Given the description of an element on the screen output the (x, y) to click on. 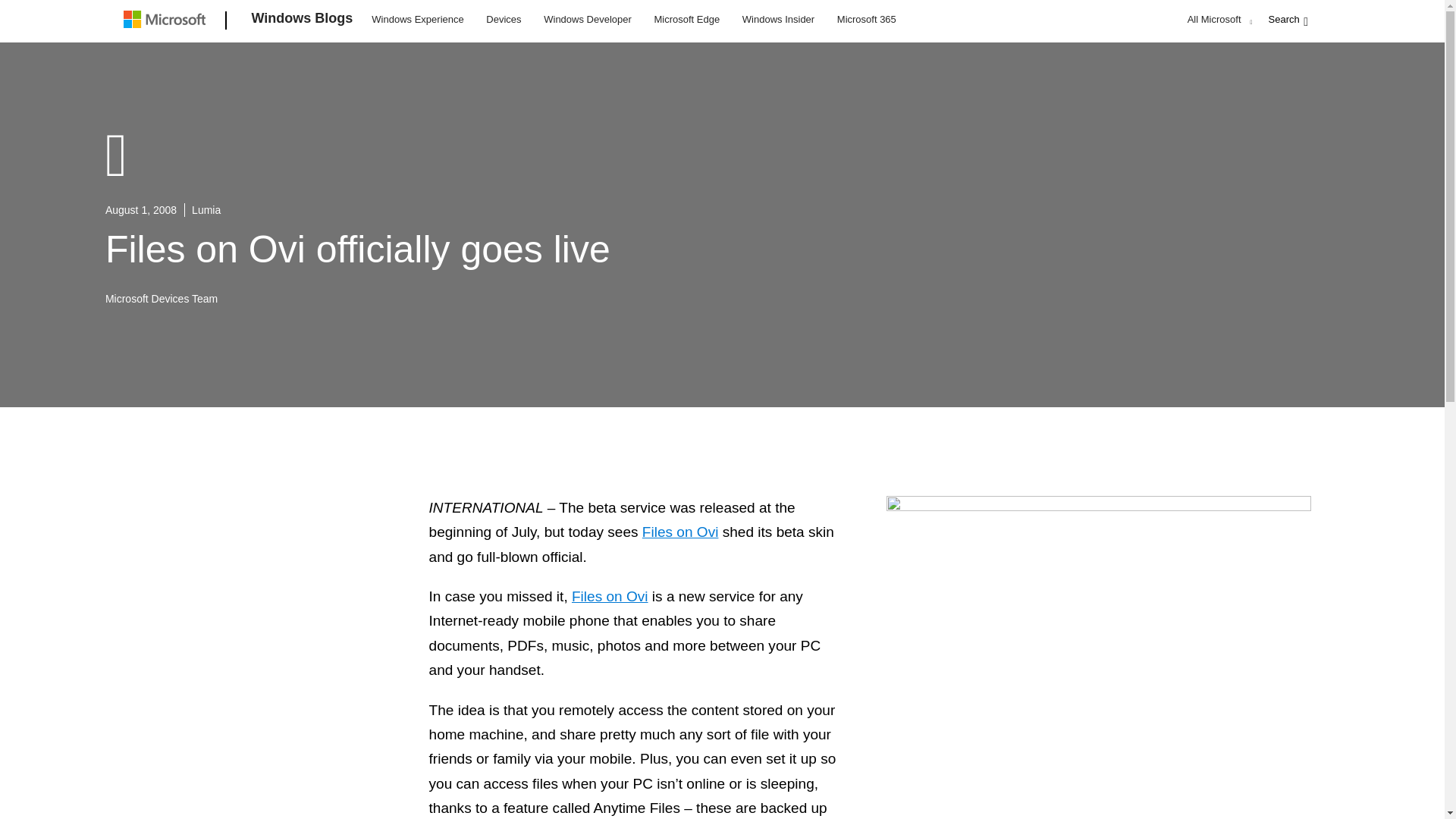
Microsoft (167, 20)
Windows Developer (588, 18)
All Microsoft (1217, 18)
Microsoft 365 (865, 18)
Microsoft Edge (686, 18)
Windows Insider (778, 18)
Windows Blogs (302, 20)
Windows Experience (417, 18)
Devices (503, 18)
